Given the description of an element on the screen output the (x, y) to click on. 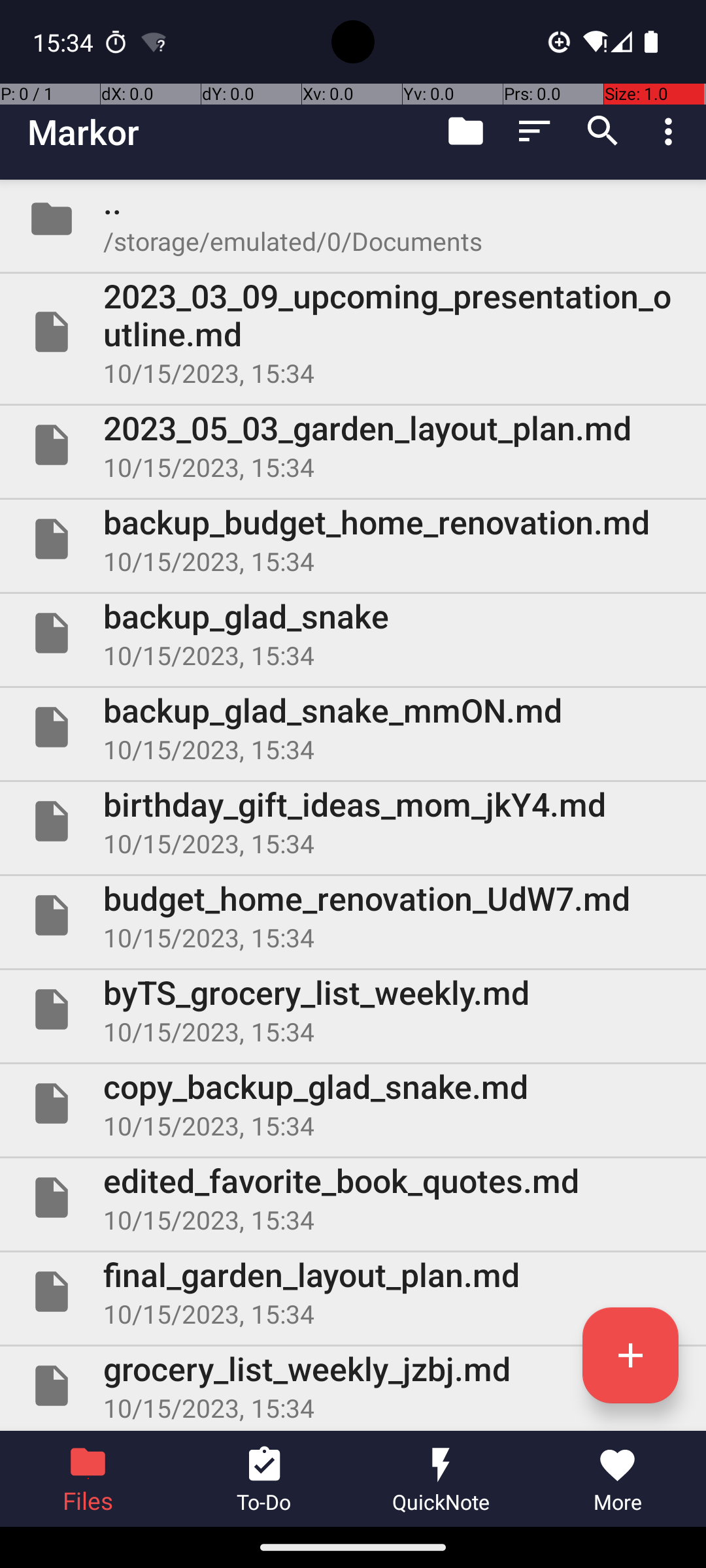
File 2023_03_09_upcoming_presentation_outline.md  Element type: android.widget.LinearLayout (353, 331)
File 2023_05_03_garden_layout_plan.md  Element type: android.widget.LinearLayout (353, 444)
File backup_budget_home_renovation.md  Element type: android.widget.LinearLayout (353, 538)
File backup_glad_snake  Element type: android.widget.LinearLayout (353, 632)
File backup_glad_snake_mmON.md  Element type: android.widget.LinearLayout (353, 726)
File birthday_gift_ideas_mom_jkY4.md  Element type: android.widget.LinearLayout (353, 821)
File budget_home_renovation_UdW7.md  Element type: android.widget.LinearLayout (353, 915)
File byTS_grocery_list_weekly.md 10/15/2023, 15:34 Element type: android.widget.LinearLayout (353, 1009)
File copy_backup_glad_snake.md 10/15/2023, 15:34 Element type: android.widget.LinearLayout (353, 1103)
File edited_favorite_book_quotes.md 10/15/2023, 15:34 Element type: android.widget.LinearLayout (353, 1197)
File final_garden_layout_plan.md  Element type: android.widget.LinearLayout (353, 1291)
File grocery_list_weekly_jzbj.md  Element type: android.widget.LinearLayout (353, 1385)
